Given the description of an element on the screen output the (x, y) to click on. 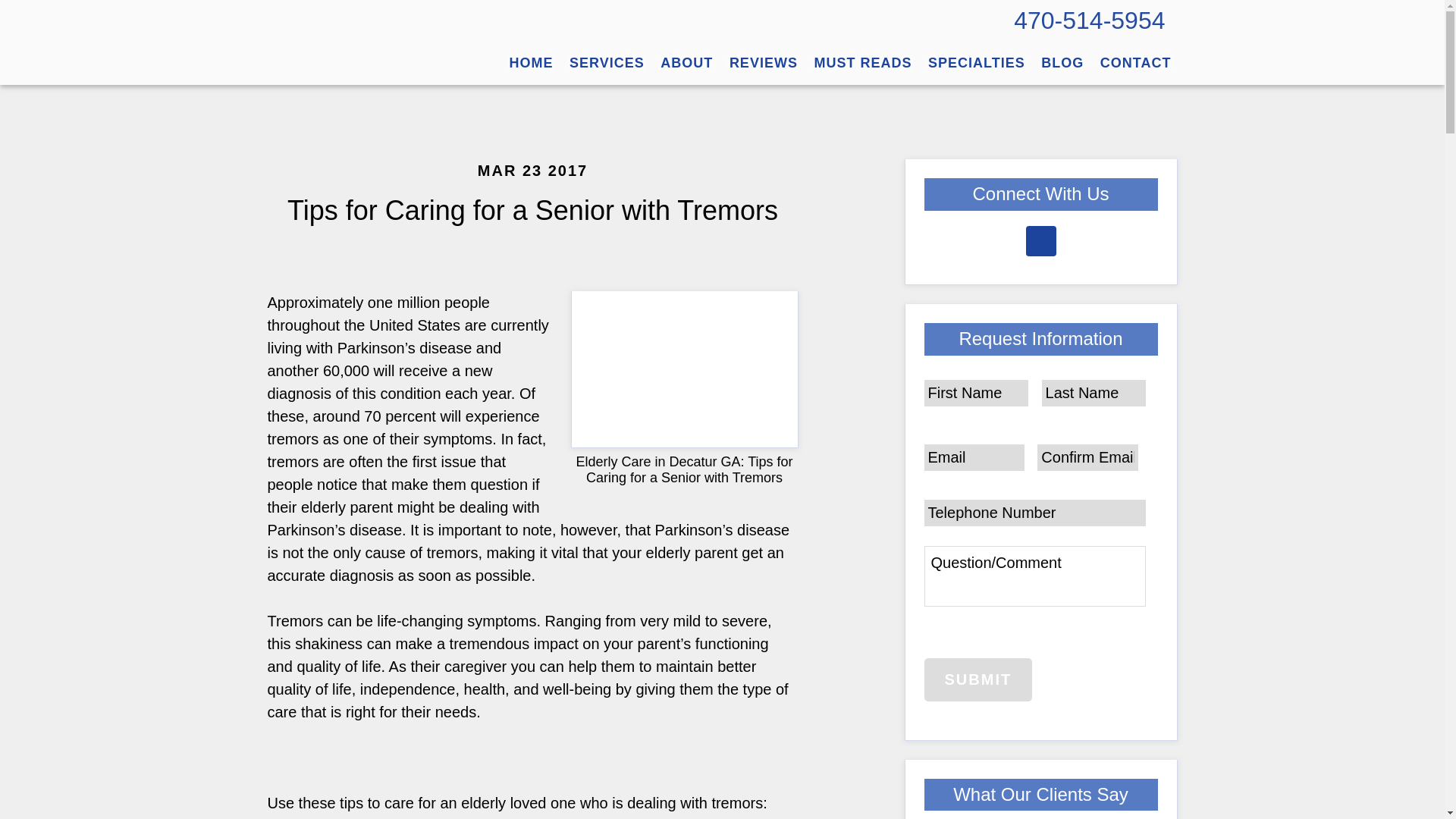
Atlanta In Home Senior Care (606, 62)
Tips for Caring for a Senior with Tremors (531, 210)
Employees (763, 62)
BLOG (1062, 62)
470-514-5954 (1088, 20)
SERVICES (606, 62)
Submit (977, 679)
HOME (530, 62)
CARING COMPANIONS OF ATLANTA (379, 41)
ABOUT (686, 62)
